Given the description of an element on the screen output the (x, y) to click on. 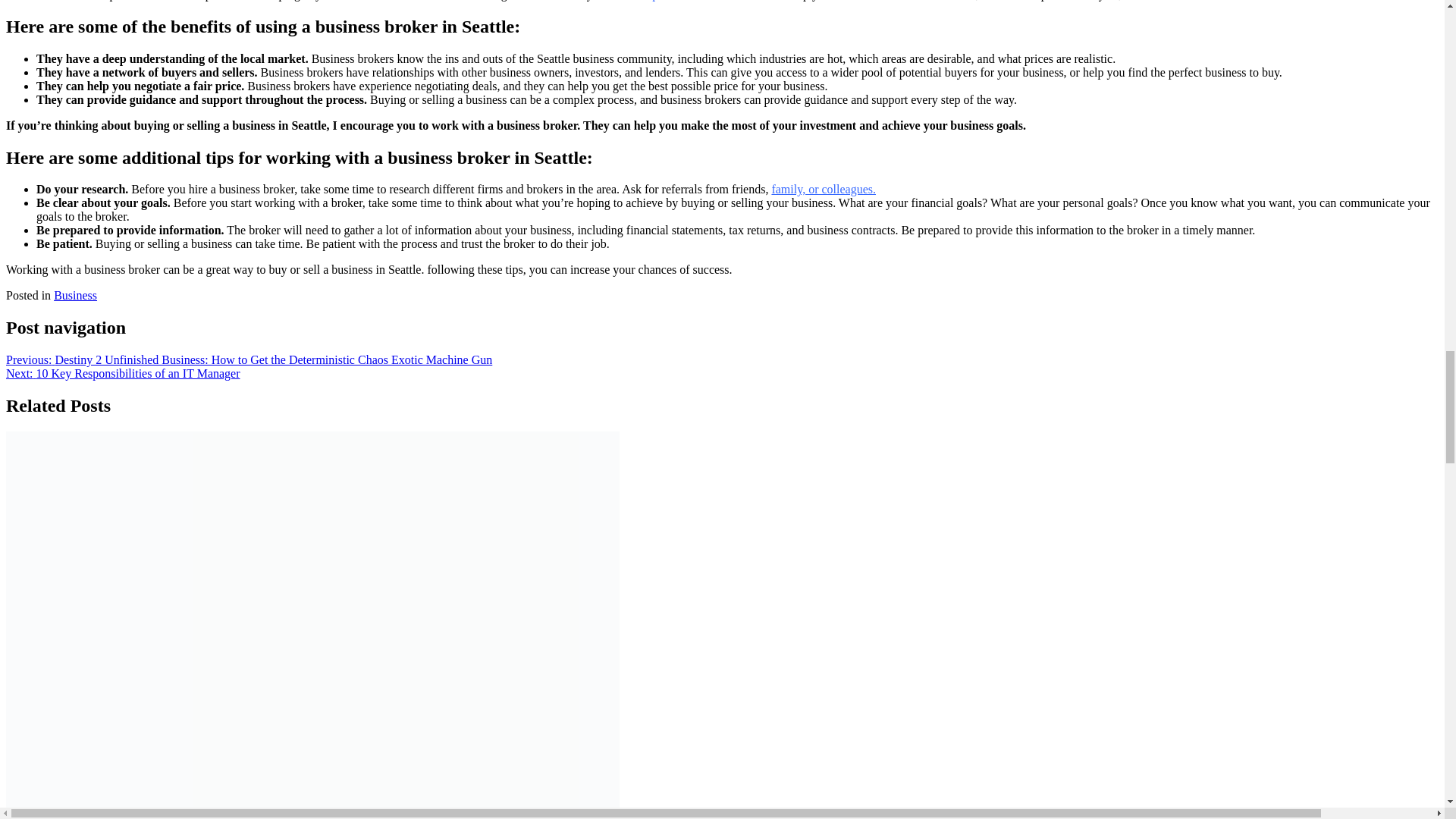
Business (75, 295)
family, or colleagues. (823, 188)
Next: 10 Key Responsibilities of an IT Manager (122, 373)
